Given the description of an element on the screen output the (x, y) to click on. 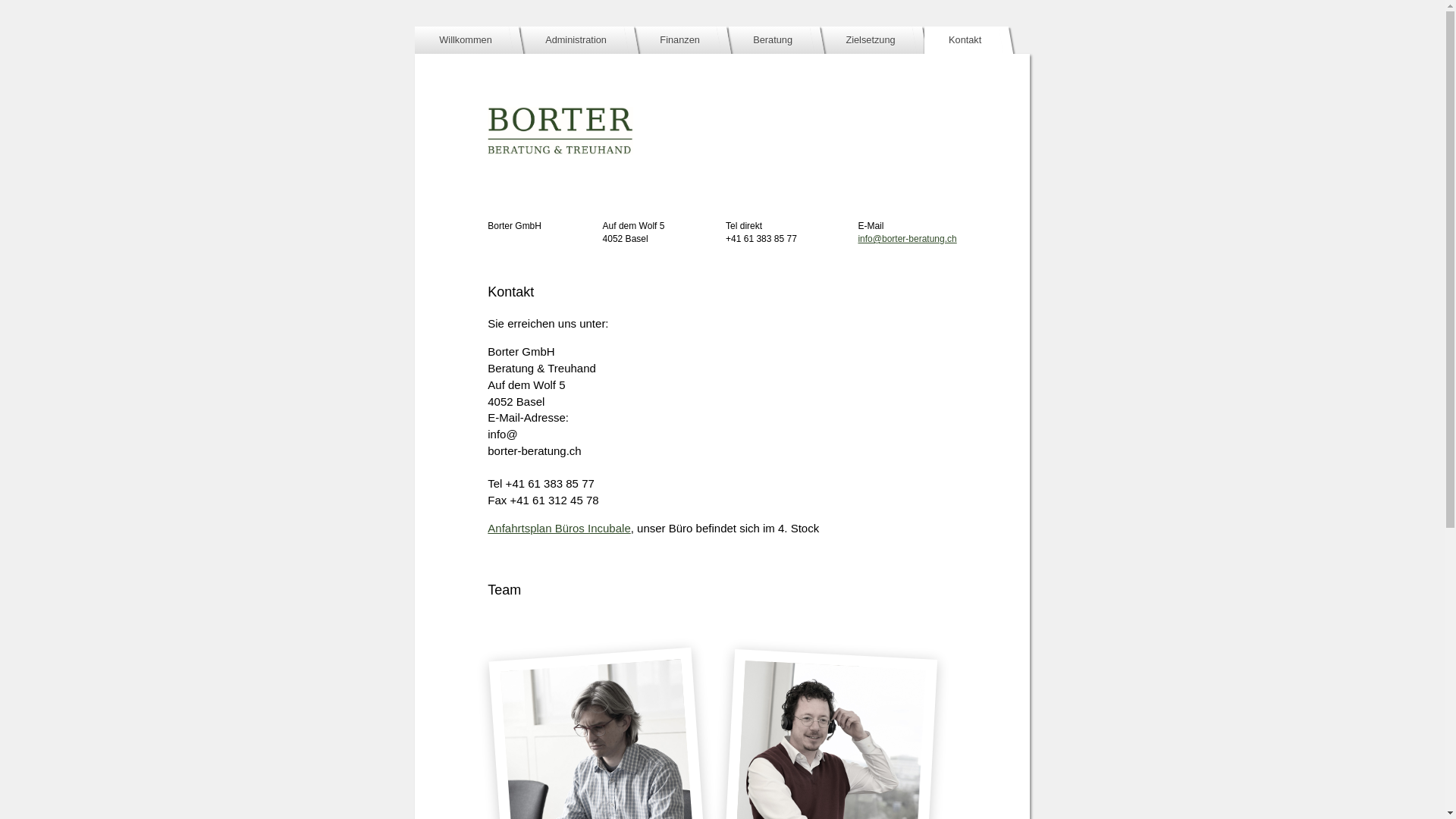
info@borter-beratung.ch Element type: text (906, 238)
Kontakt Element type: text (964, 39)
Finanzen Element type: text (679, 39)
Beratung Element type: text (772, 39)
Administration Element type: text (575, 39)
Willkommen Element type: text (464, 39)
Zielsetzung Element type: text (870, 39)
